Given the description of an element on the screen output the (x, y) to click on. 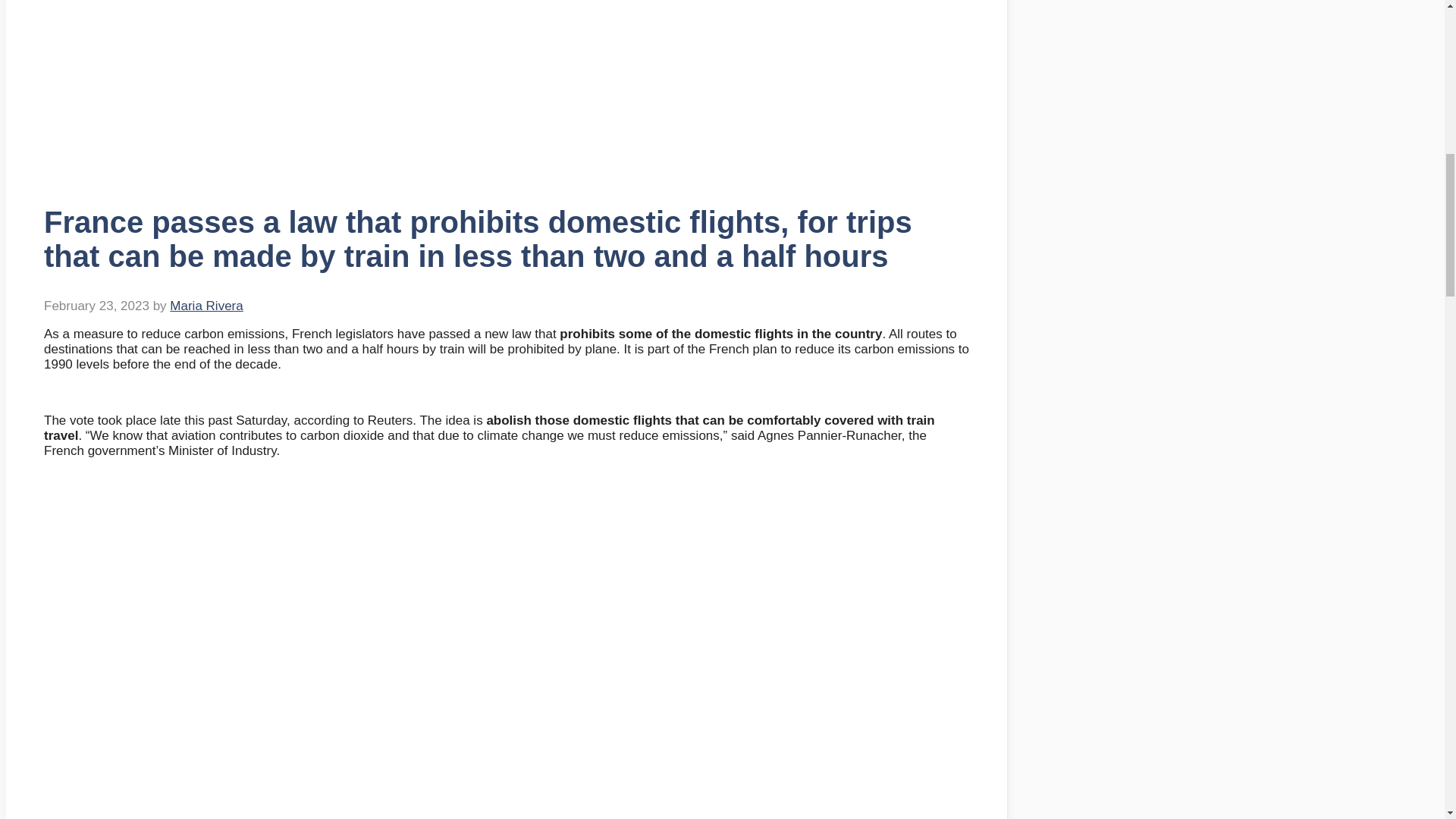
Maria Rivera (206, 305)
View all posts by Maria Rivera (206, 305)
